Given the description of an element on the screen output the (x, y) to click on. 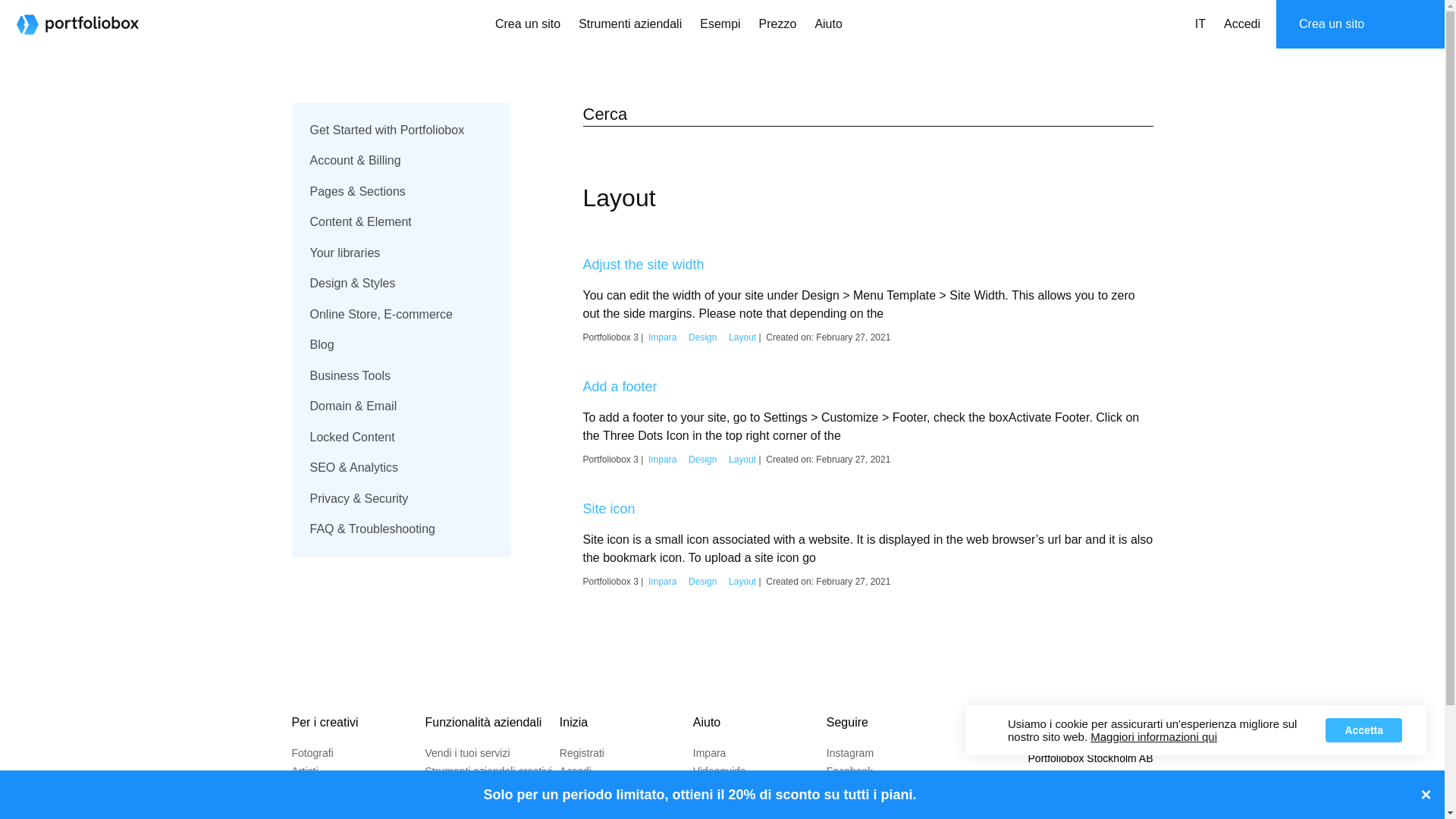
Aiuto (827, 24)
Esempi (719, 24)
Prezzo (777, 24)
Crea un sito (527, 24)
Strumenti aziendali (629, 24)
